Given the description of an element on the screen output the (x, y) to click on. 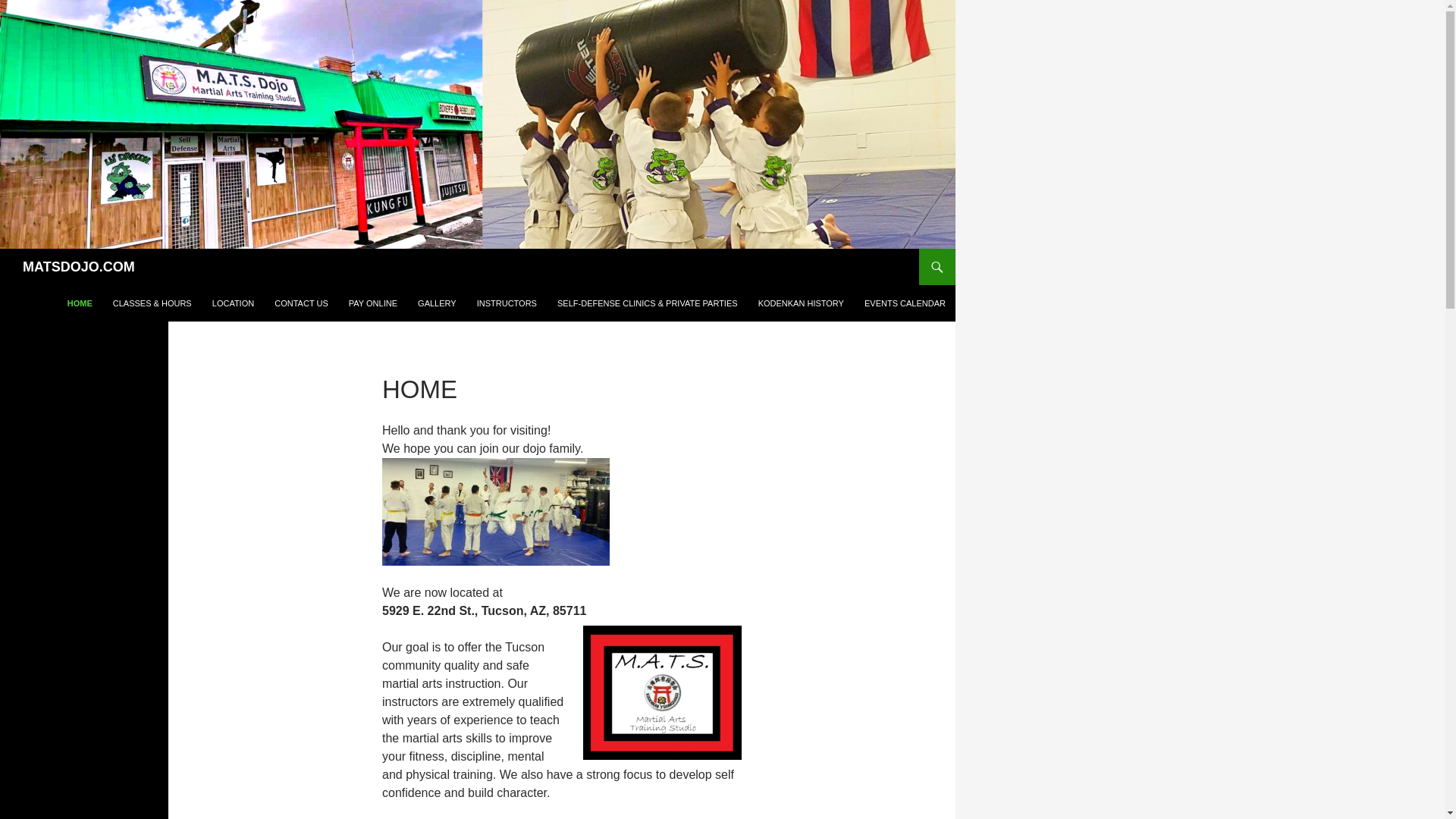
KODENKAN HISTORY (801, 303)
GALLERY (437, 303)
PAY ONLINE (372, 303)
LOCATION (233, 303)
EVENTS CALENDAR (905, 303)
INSTRUCTORS (506, 303)
MATSDOJO.COM (79, 266)
CONTACT US (300, 303)
HOME (79, 303)
